Given the description of an element on the screen output the (x, y) to click on. 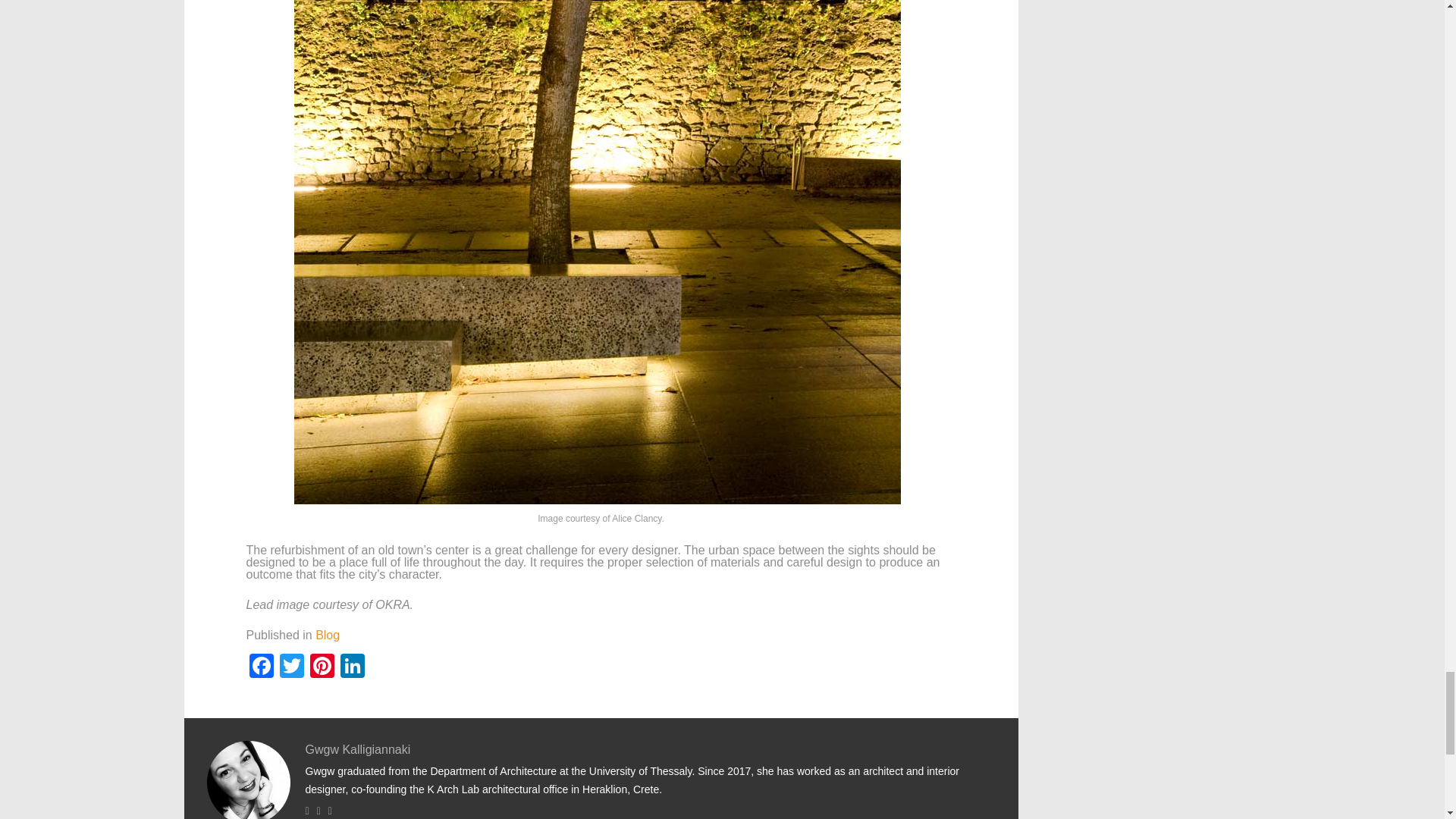
LinkedIn (351, 667)
Twitter (290, 667)
Pinterest (320, 667)
Facebook (261, 667)
